Given the description of an element on the screen output the (x, y) to click on. 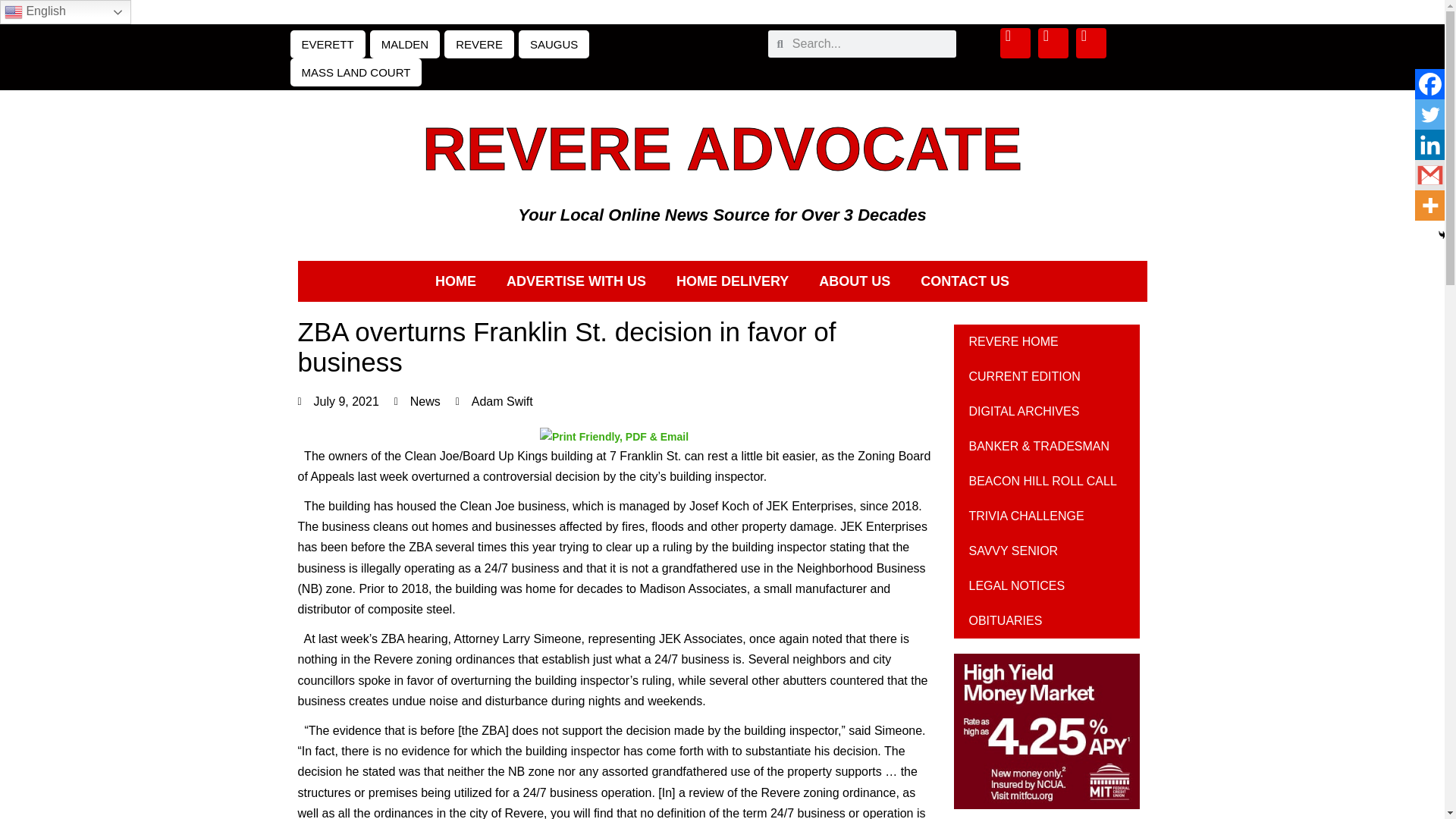
News (425, 400)
ABOUT US (854, 281)
CURRENT EDITION (1046, 376)
SAUGUS (553, 44)
MALDEN (405, 44)
CONTACT US (965, 281)
REVERE (478, 44)
ADVERTISE WITH US (576, 281)
REVERE HOME (1046, 341)
EVERETT (327, 44)
BEACON HILL ROLL CALL (1046, 481)
REVERE (546, 148)
HOME (456, 281)
MASS LAND COURT (355, 72)
English (65, 12)
